Given the description of an element on the screen output the (x, y) to click on. 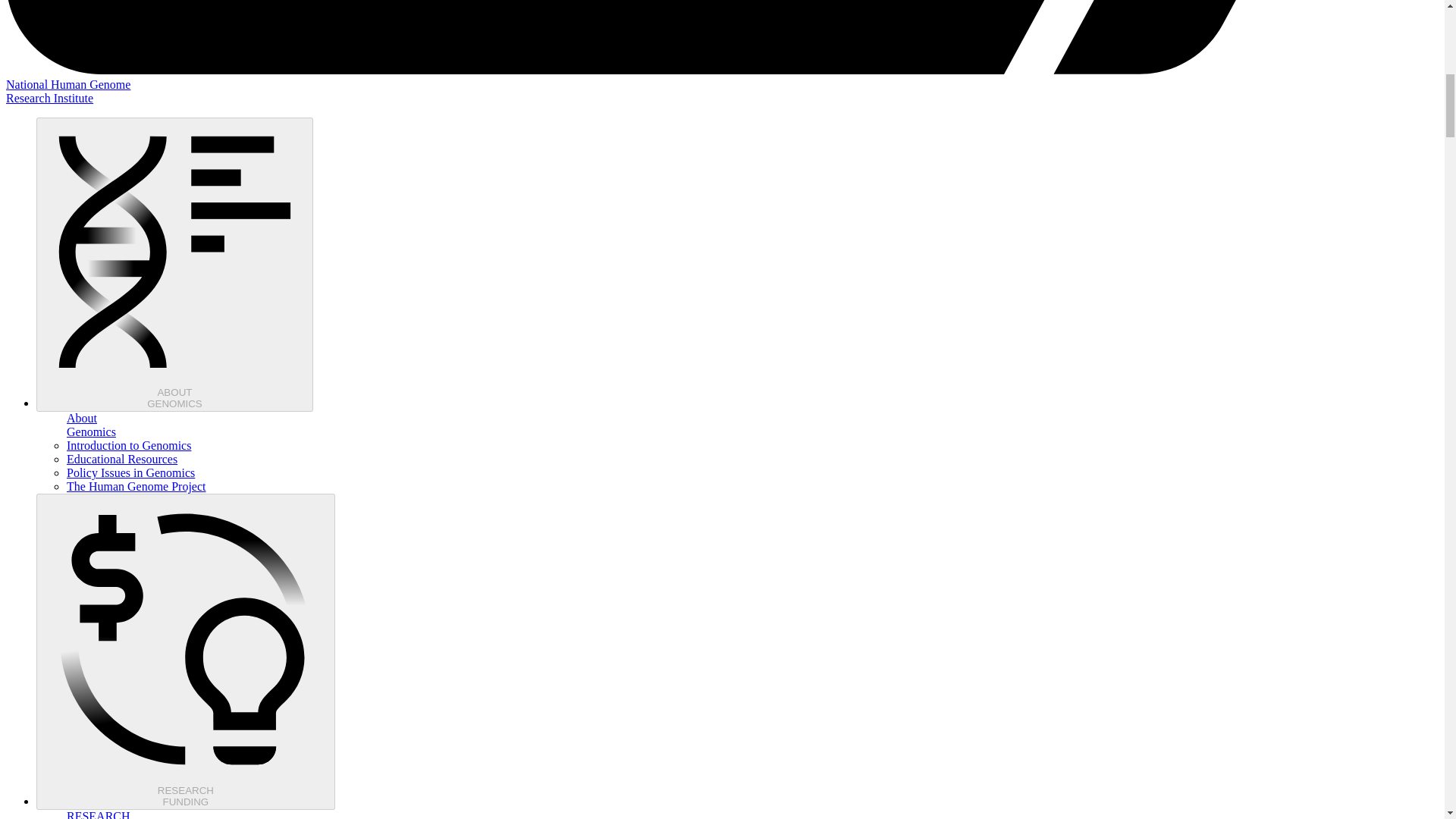
Educational Resources (121, 459)
Introduction to Genomics (185, 651)
The Human Genome Project (128, 445)
Policy Issues in Genomics (136, 486)
